Given the description of an element on the screen output the (x, y) to click on. 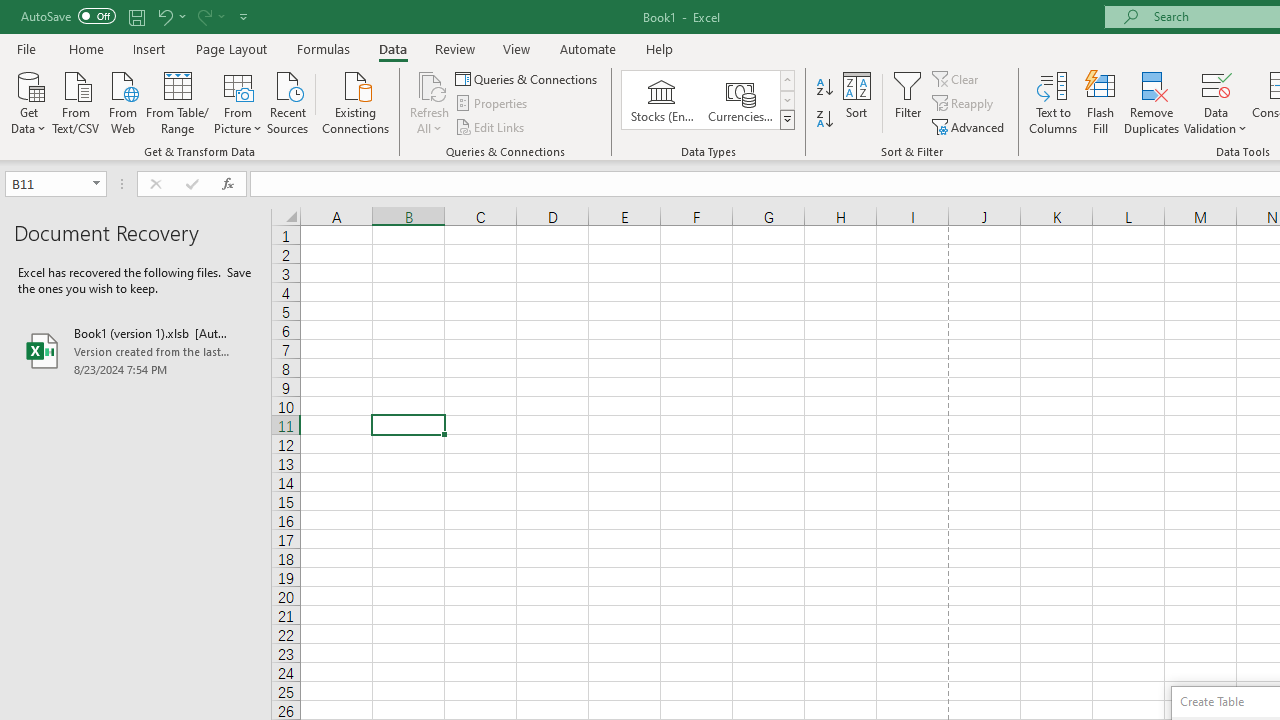
Data Types (786, 120)
AutomationID: ConvertToLinkedEntity (708, 99)
Stocks (English) (662, 100)
Existing Connections (355, 101)
Edit Links (491, 126)
